Given the description of an element on the screen output the (x, y) to click on. 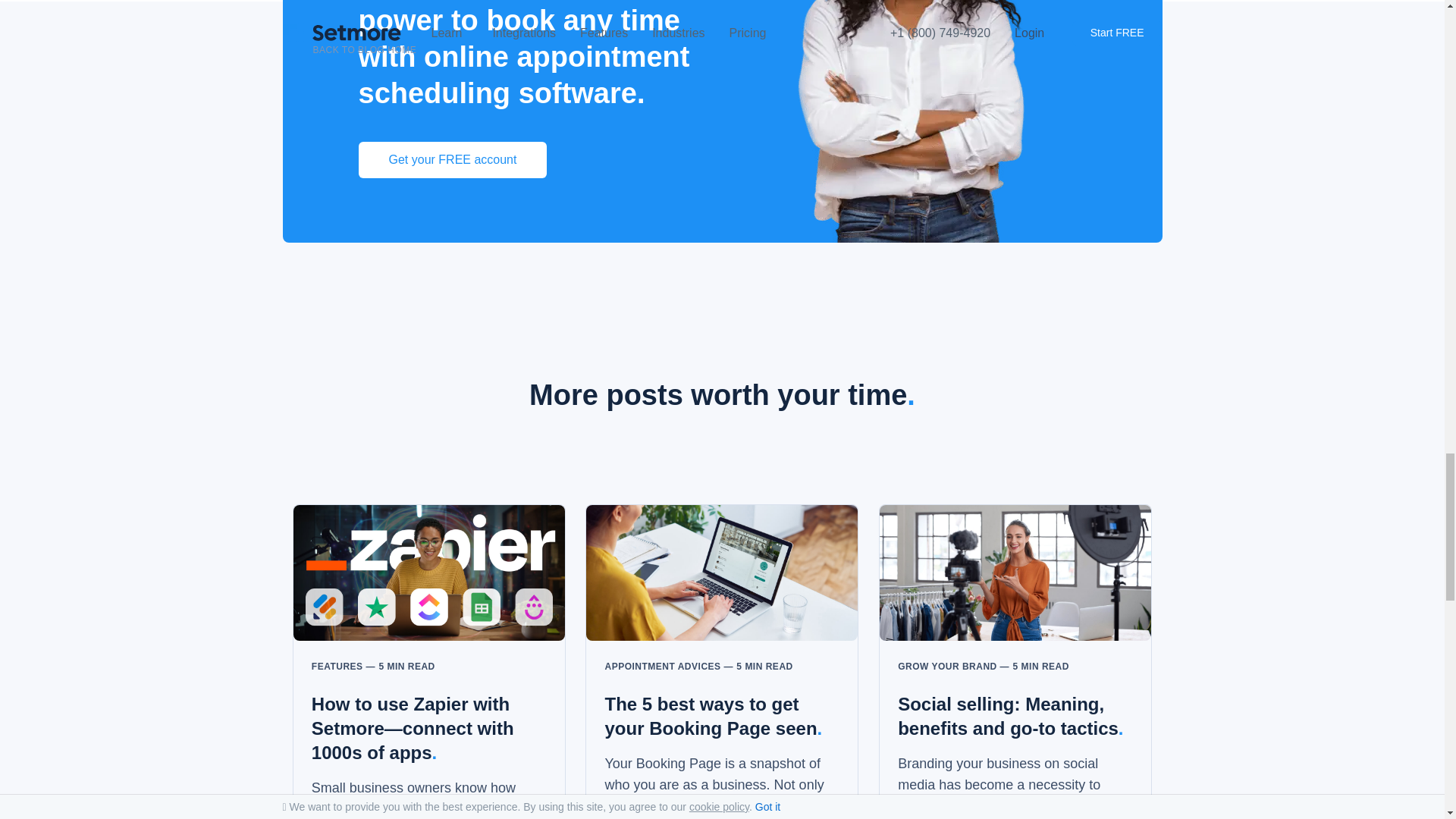
The 5 best ways to get your Booking Page seen (713, 715)
The 5 best ways to get your Booking Page seen (721, 582)
Social selling: Meaning, benefits and go-to tactics (1010, 715)
Social selling: Meaning, benefits and go-to tactics (1015, 582)
